Given the description of an element on the screen output the (x, y) to click on. 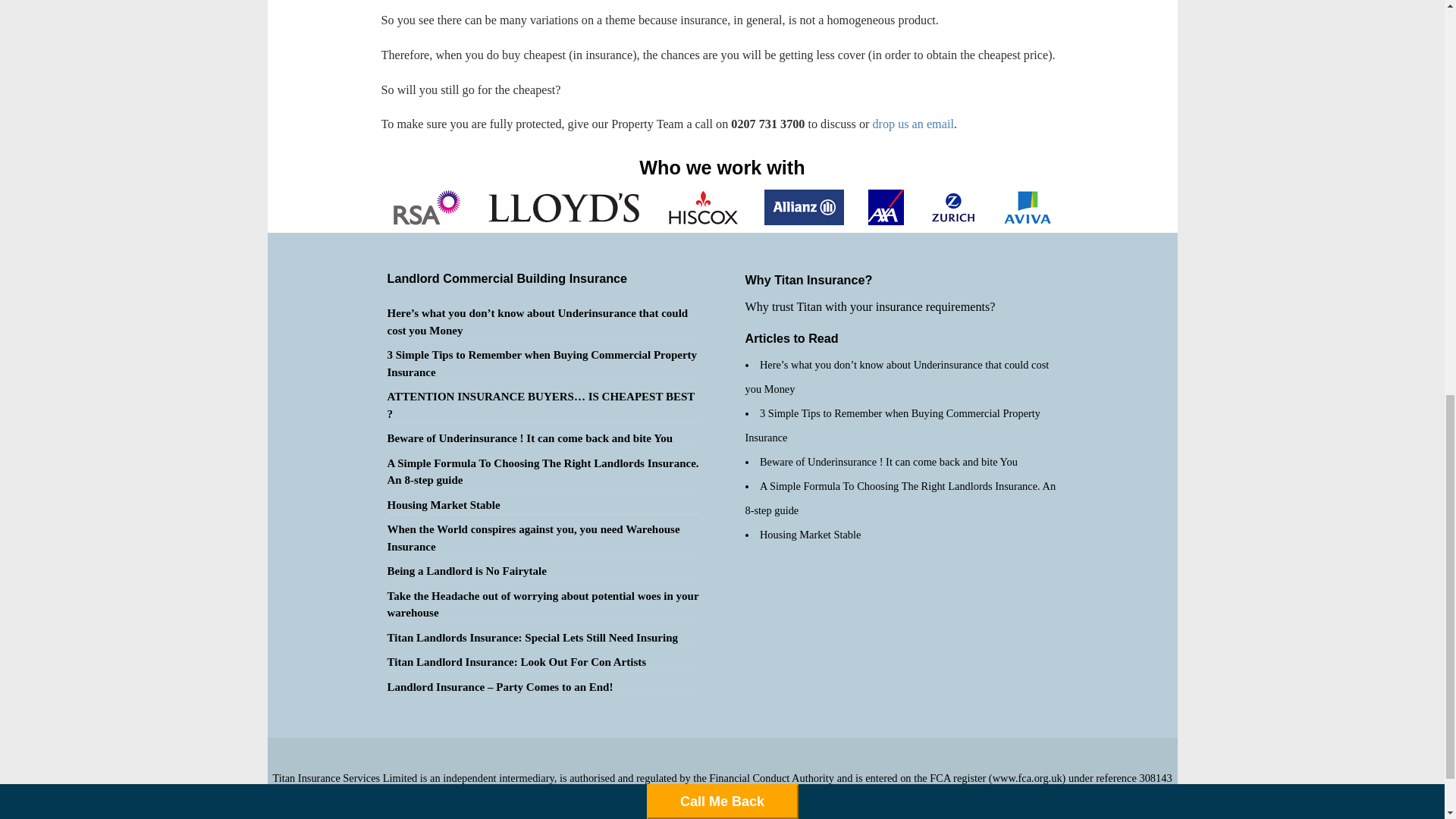
Beware of Underinsurance !  It can come back and bite You (529, 438)
Housing Market Stable (443, 504)
Being a Landlord is No Fairytale (466, 571)
Titan Landlords Insurance: Special Lets Still Need Insuring (532, 637)
Titan Landlord Insurance: Look Out For Con Artists (516, 662)
